Given the description of an element on the screen output the (x, y) to click on. 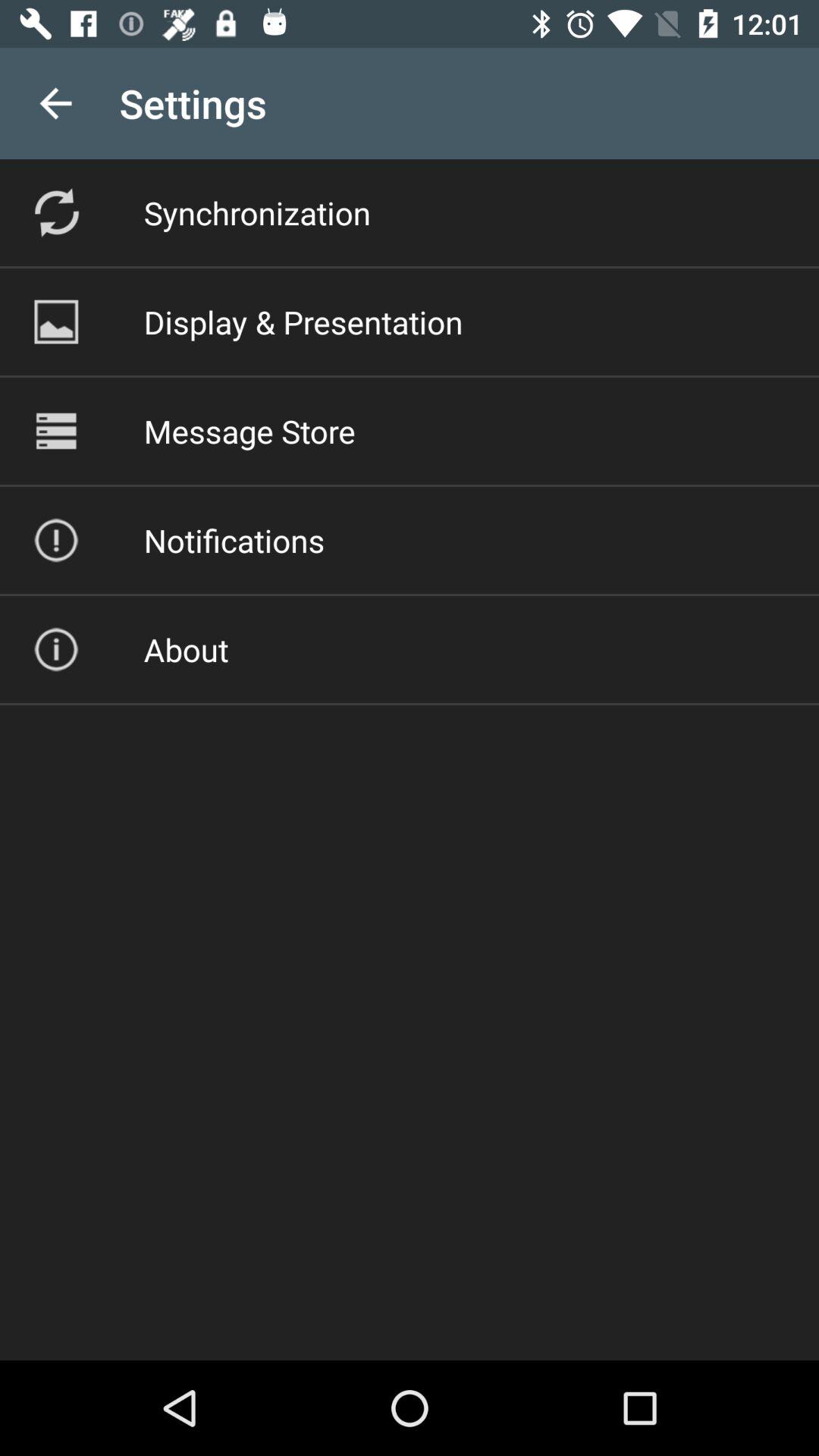
jump until the message store item (249, 430)
